Given the description of an element on the screen output the (x, y) to click on. 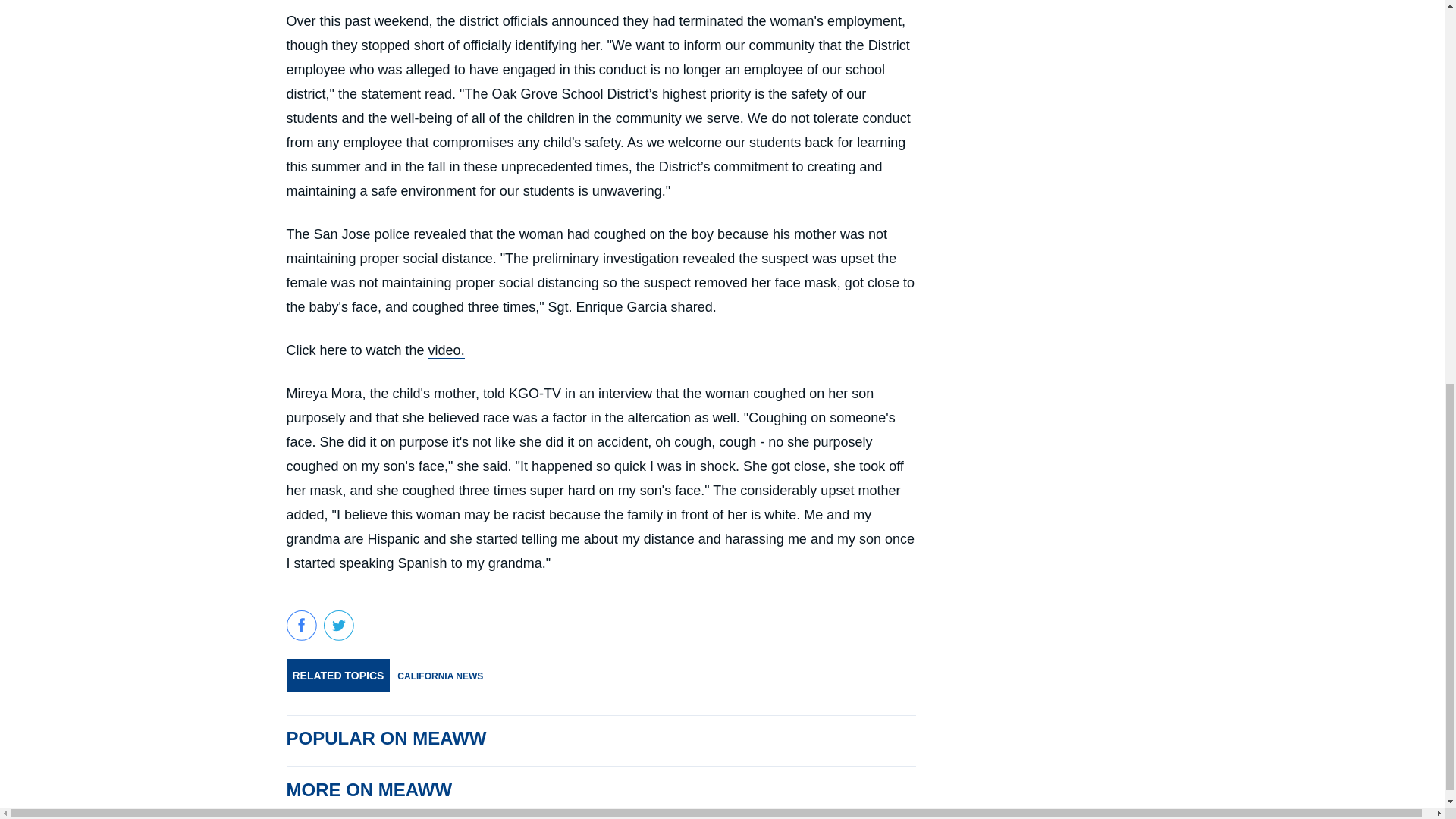
video. (446, 351)
CALIFORNIA NEWS (440, 675)
